Given the description of an element on the screen output the (x, y) to click on. 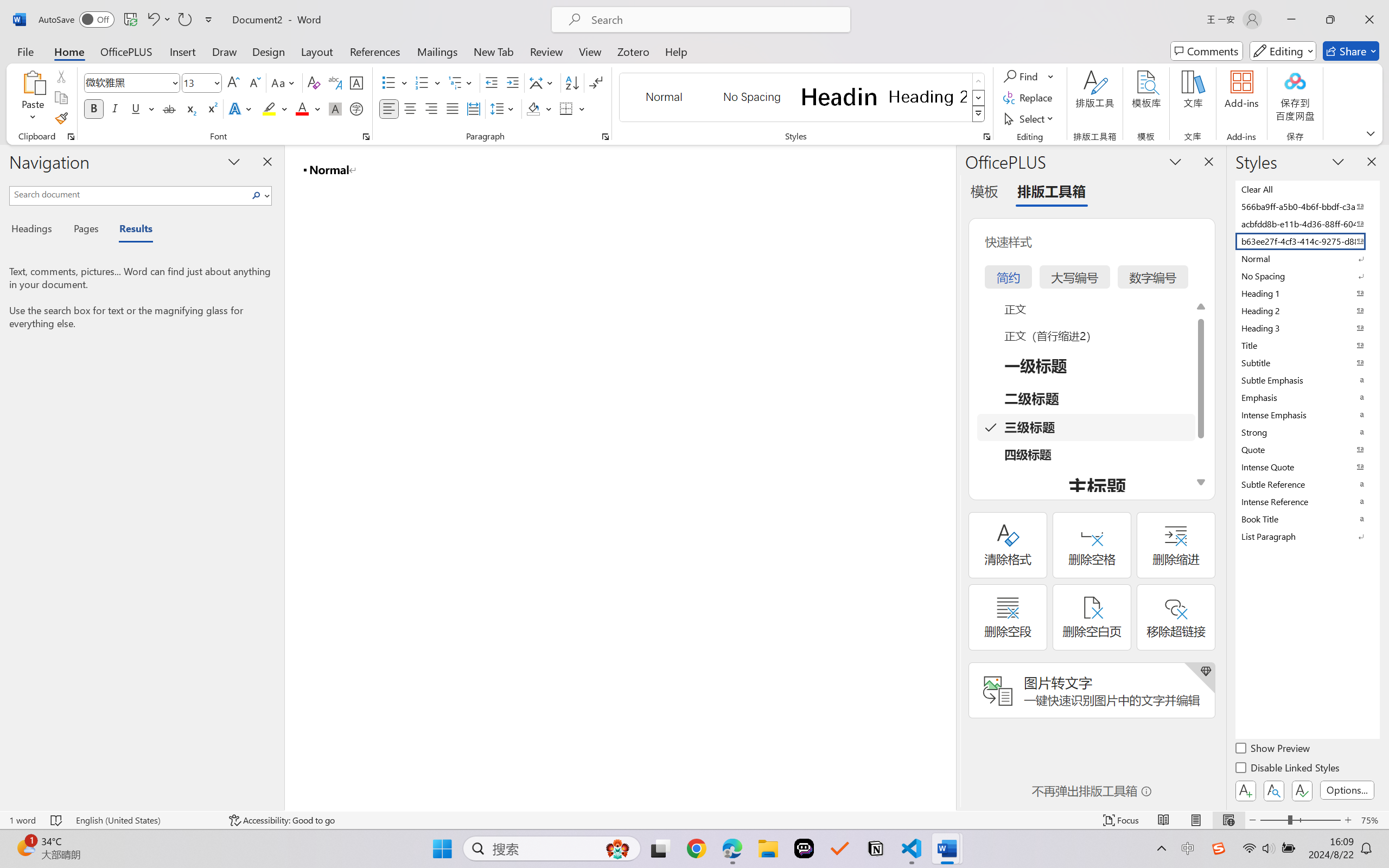
Review (546, 51)
b63ee27f-4cf3-414c-9275-d88e3f90795e (1306, 240)
Headings (35, 229)
Increase Indent (512, 82)
AutomationID: DynamicSearchBoxGleamImage (617, 848)
Office Clipboard... (70, 136)
Subscript (190, 108)
Row Down (978, 97)
Center (409, 108)
Normal (1306, 258)
Character Border (356, 82)
Mode (1283, 50)
